Given the description of an element on the screen output the (x, y) to click on. 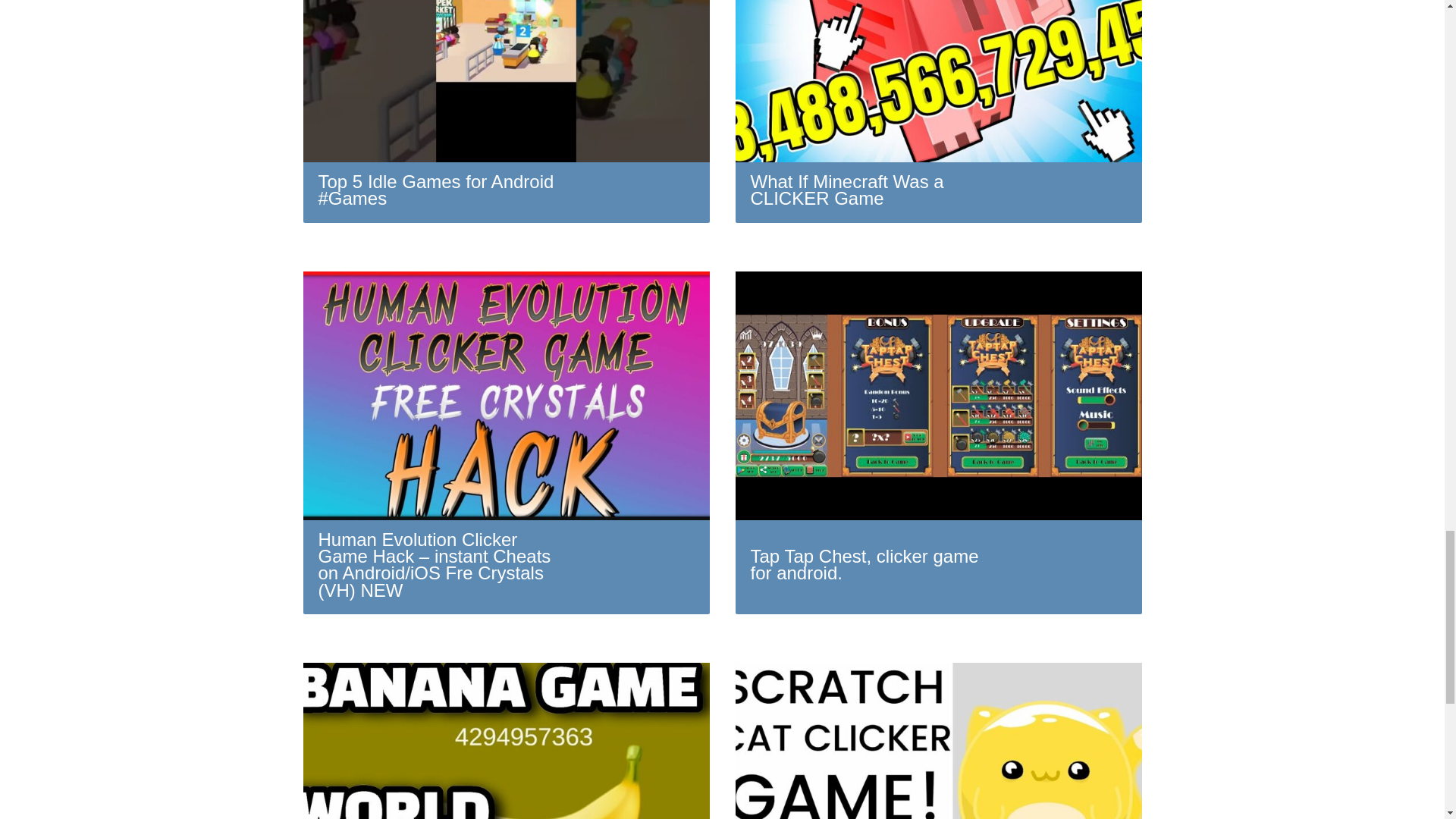
What If Minecraft Was a CLICKER Game (938, 111)
